Given the description of an element on the screen output the (x, y) to click on. 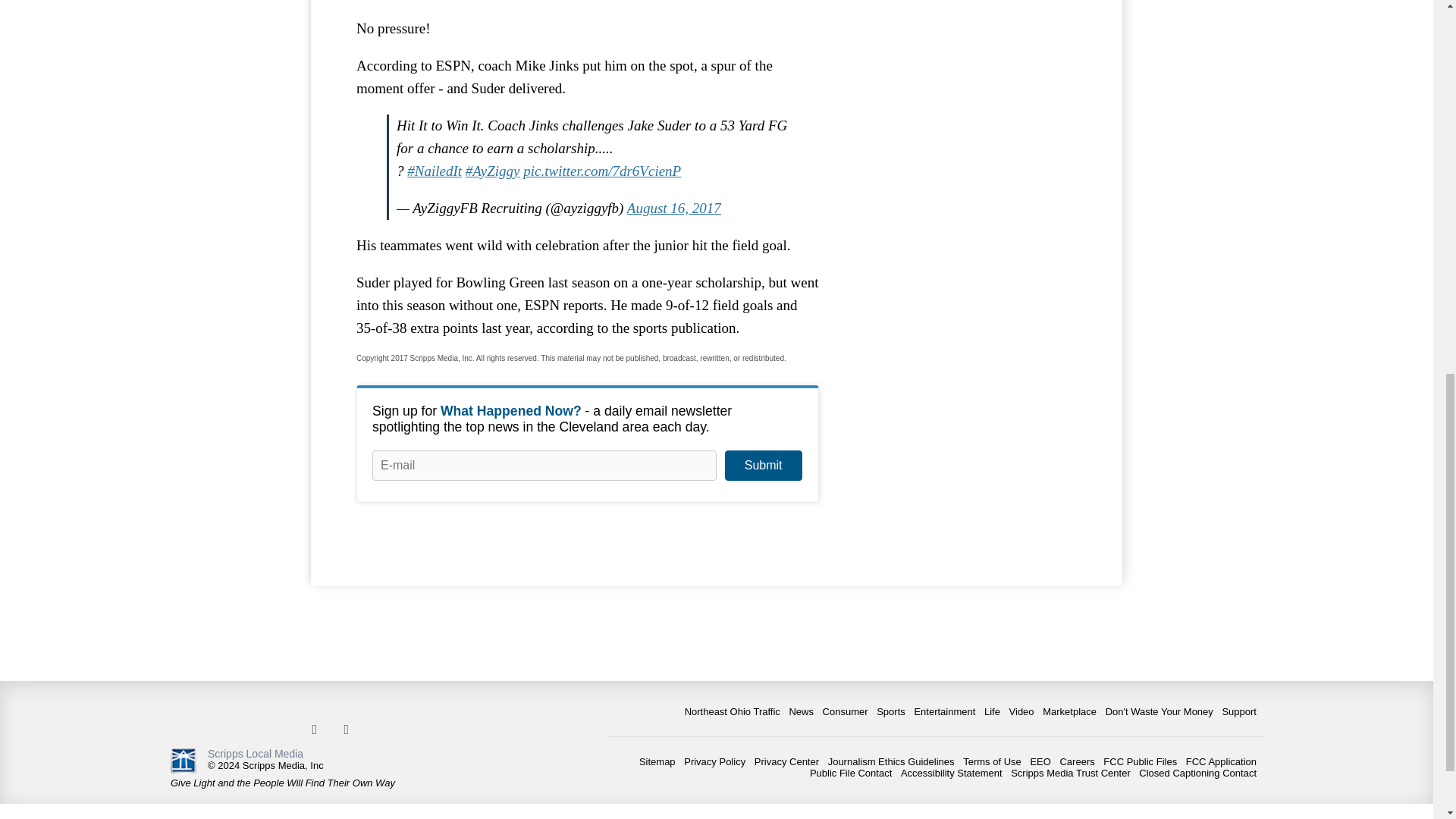
Submit (763, 465)
